Given the description of an element on the screen output the (x, y) to click on. 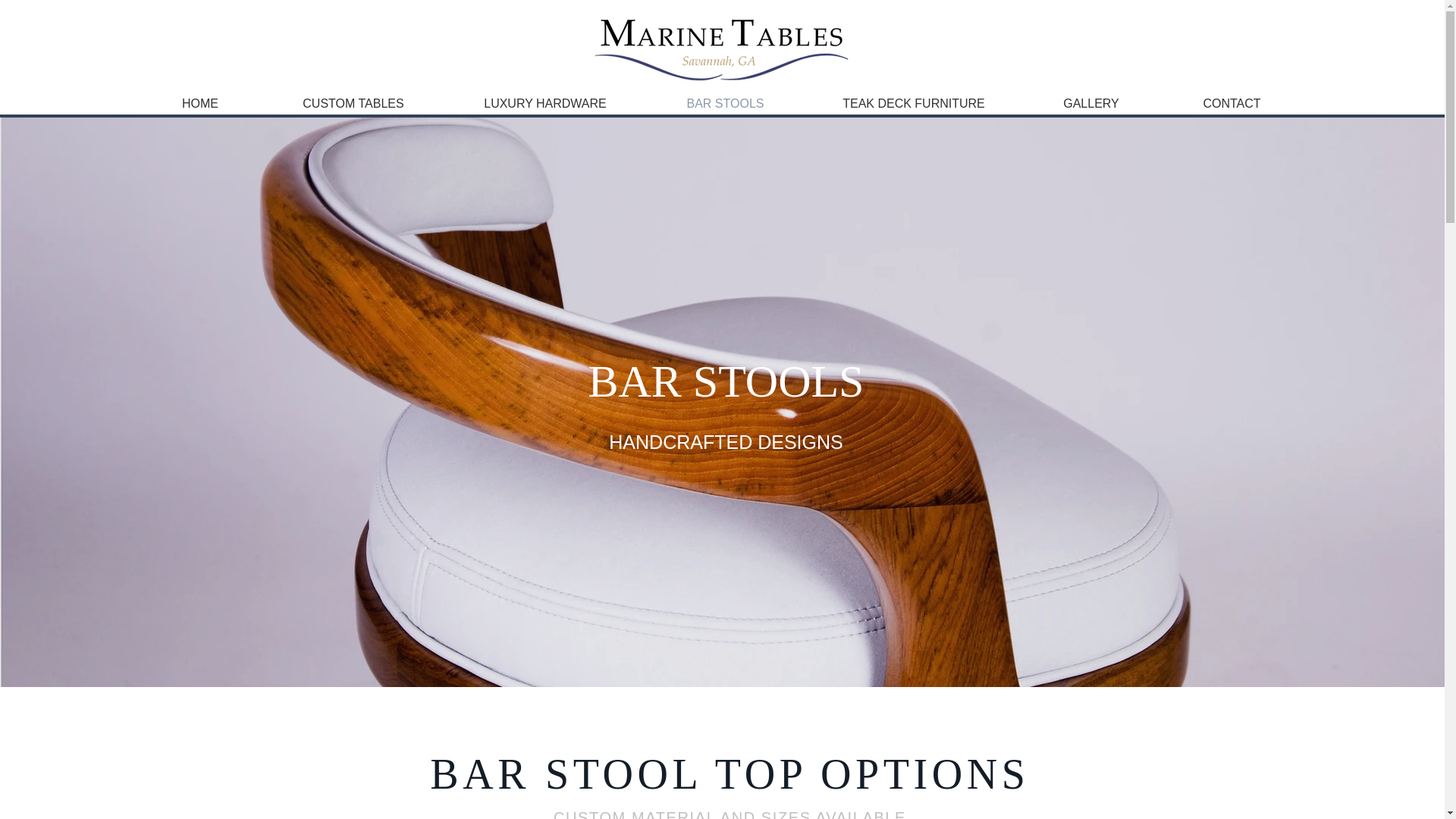
TEAK DECK FURNITURE (914, 103)
BAR STOOLS (725, 103)
LUXURY HARDWARE (544, 103)
GALLERY (1090, 103)
HOME (200, 103)
CONTACT (1232, 103)
CUSTOM TABLES (353, 103)
